Given the description of an element on the screen output the (x, y) to click on. 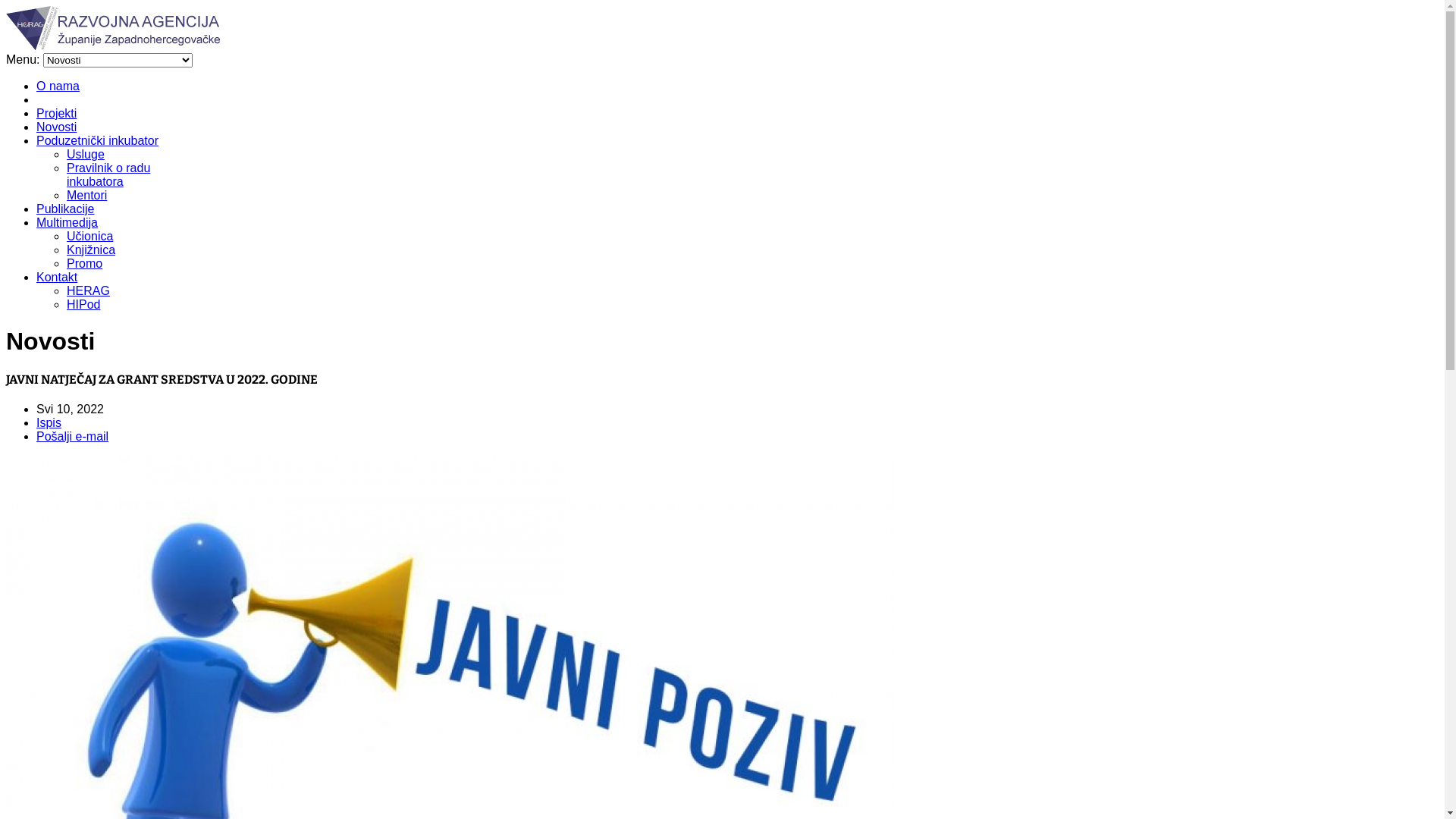
Publikacije Element type: text (65, 208)
Kontakt Element type: text (56, 276)
Pravilnik o radu inkubatora Element type: text (108, 174)
O nama Element type: text (57, 85)
Mentori Element type: text (86, 194)
Novosti Element type: text (56, 126)
Ispis Element type: text (48, 422)
Usluge Element type: text (85, 153)
Promo Element type: text (84, 263)
Multimedija Element type: text (66, 222)
HIPod Element type: text (83, 304)
HERAG Element type: text (87, 290)
Projekti Element type: text (56, 112)
